Given the description of an element on the screen output the (x, y) to click on. 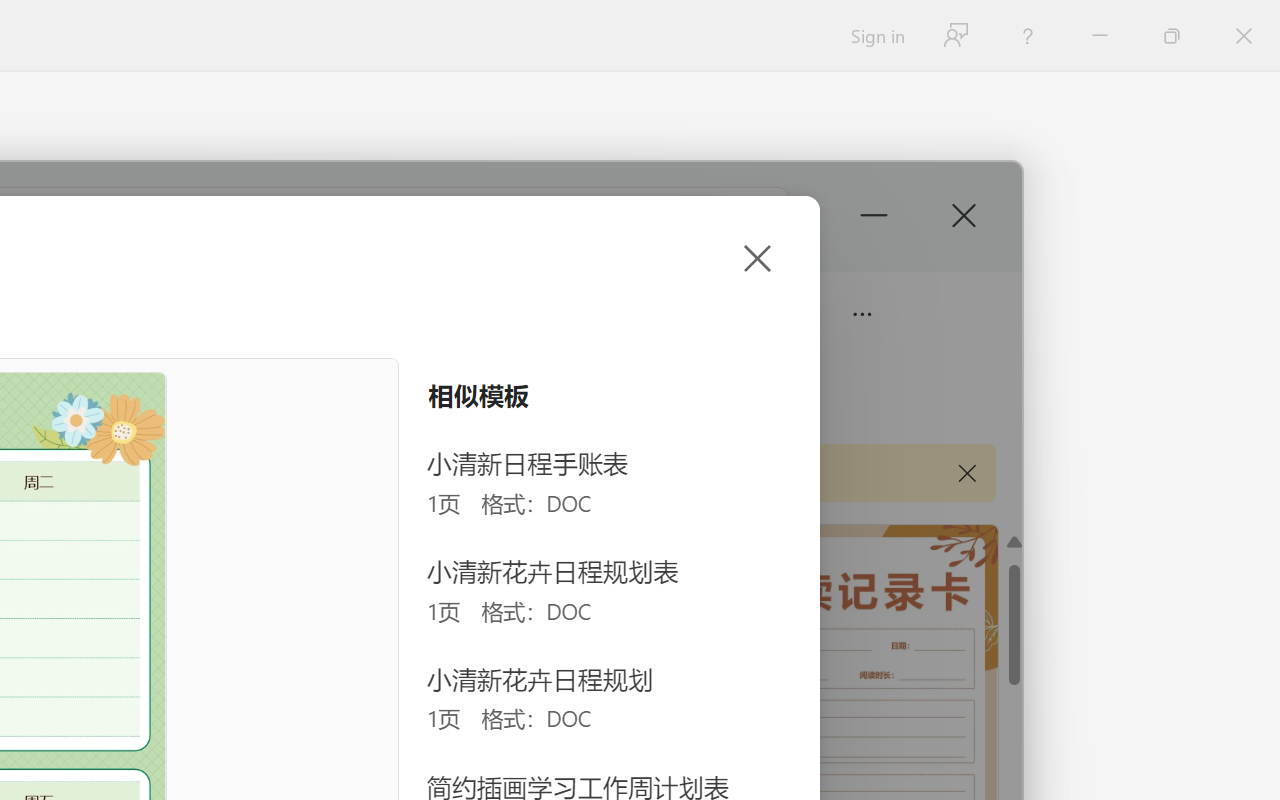
Sign in (875, 35)
